Given the description of an element on the screen output the (x, y) to click on. 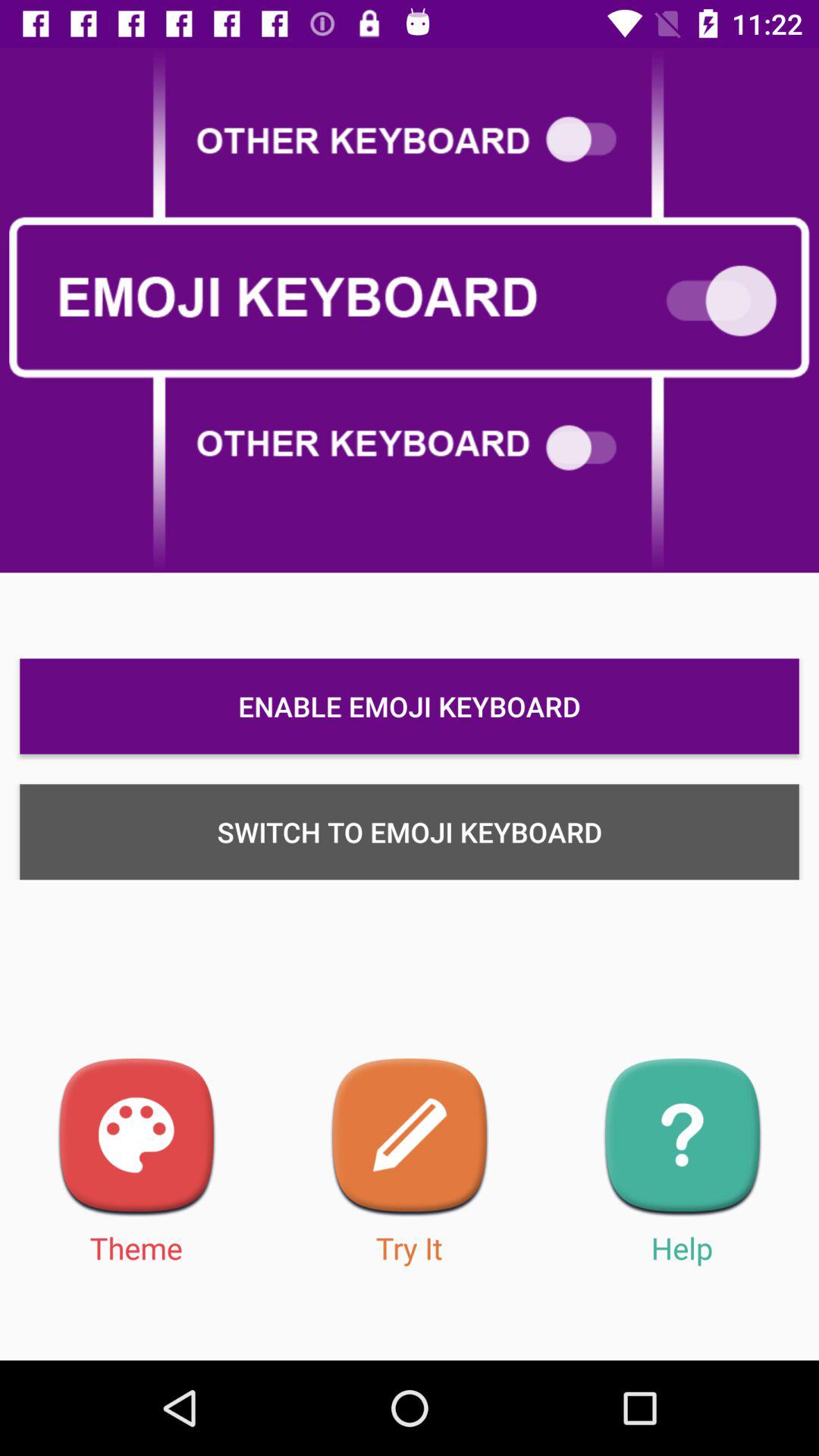
open help (682, 1137)
